Given the description of an element on the screen output the (x, y) to click on. 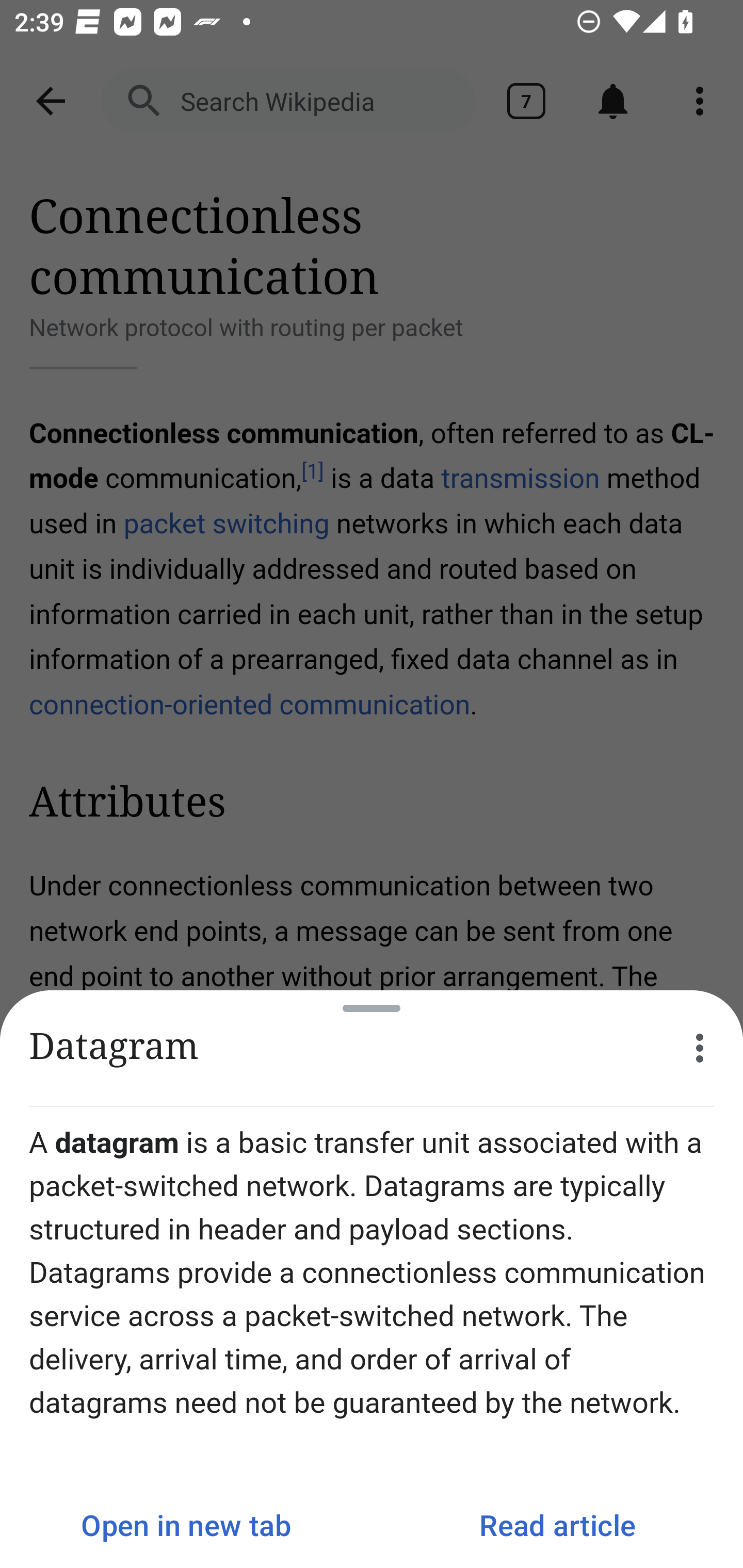
Datagram More options (371, 1047)
More options (699, 1048)
Open in new tab (185, 1524)
Read article (557, 1524)
